Given the description of an element on the screen output the (x, y) to click on. 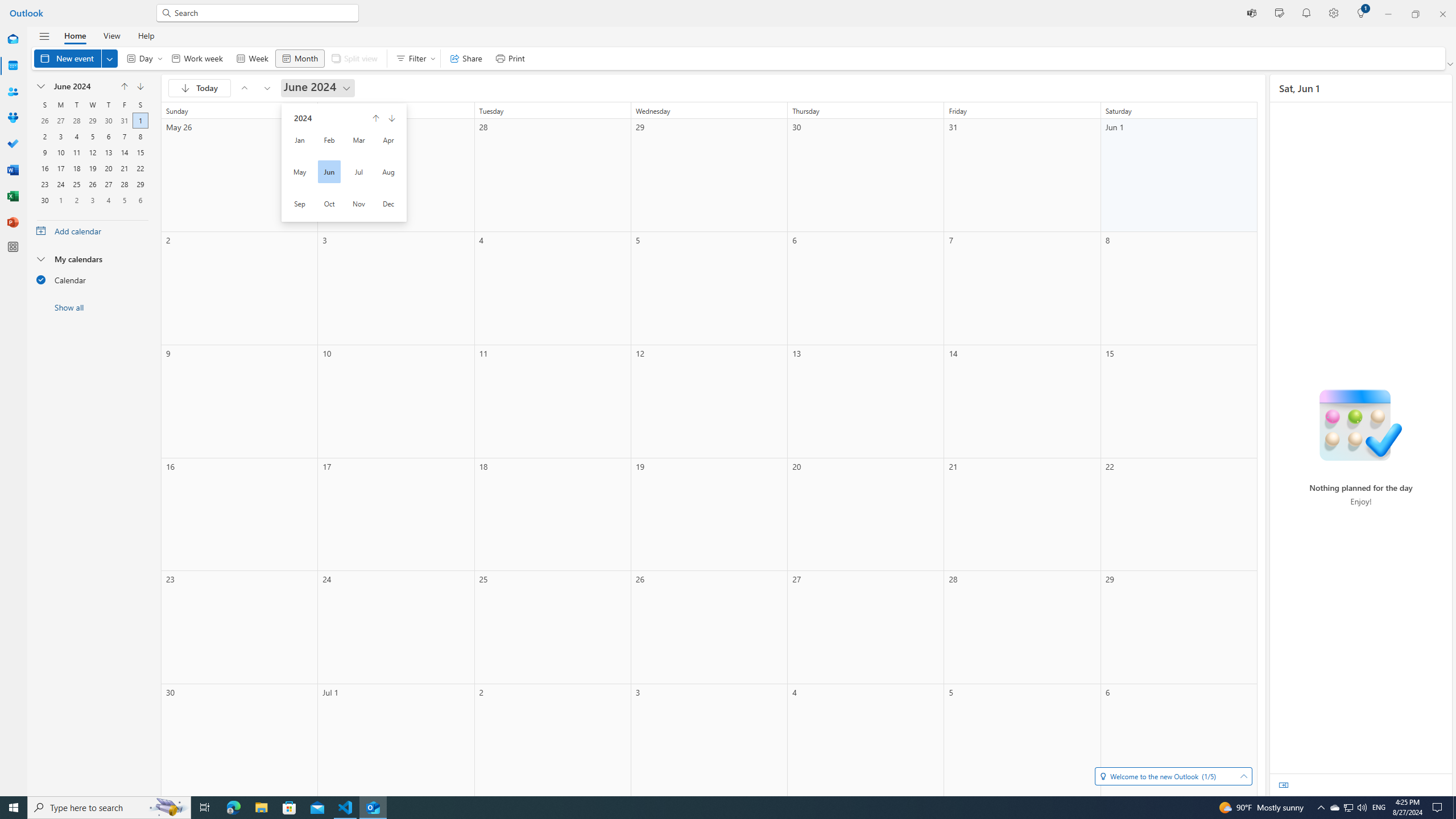
Share (465, 58)
27, June, 2024 (108, 183)
15, June, 2024 (140, 151)
16, June, 2024 (44, 167)
Go to next month July (140, 86)
Month (299, 58)
7, June, 2024 (124, 135)
3, July, 2024 (92, 199)
28, June, 2024 (124, 183)
30, May, 2024 (108, 119)
25, June, 2024 (76, 183)
Mail (12, 39)
9, June, 2024 (44, 151)
18, June, 2024 (75, 167)
